Given the description of an element on the screen output the (x, y) to click on. 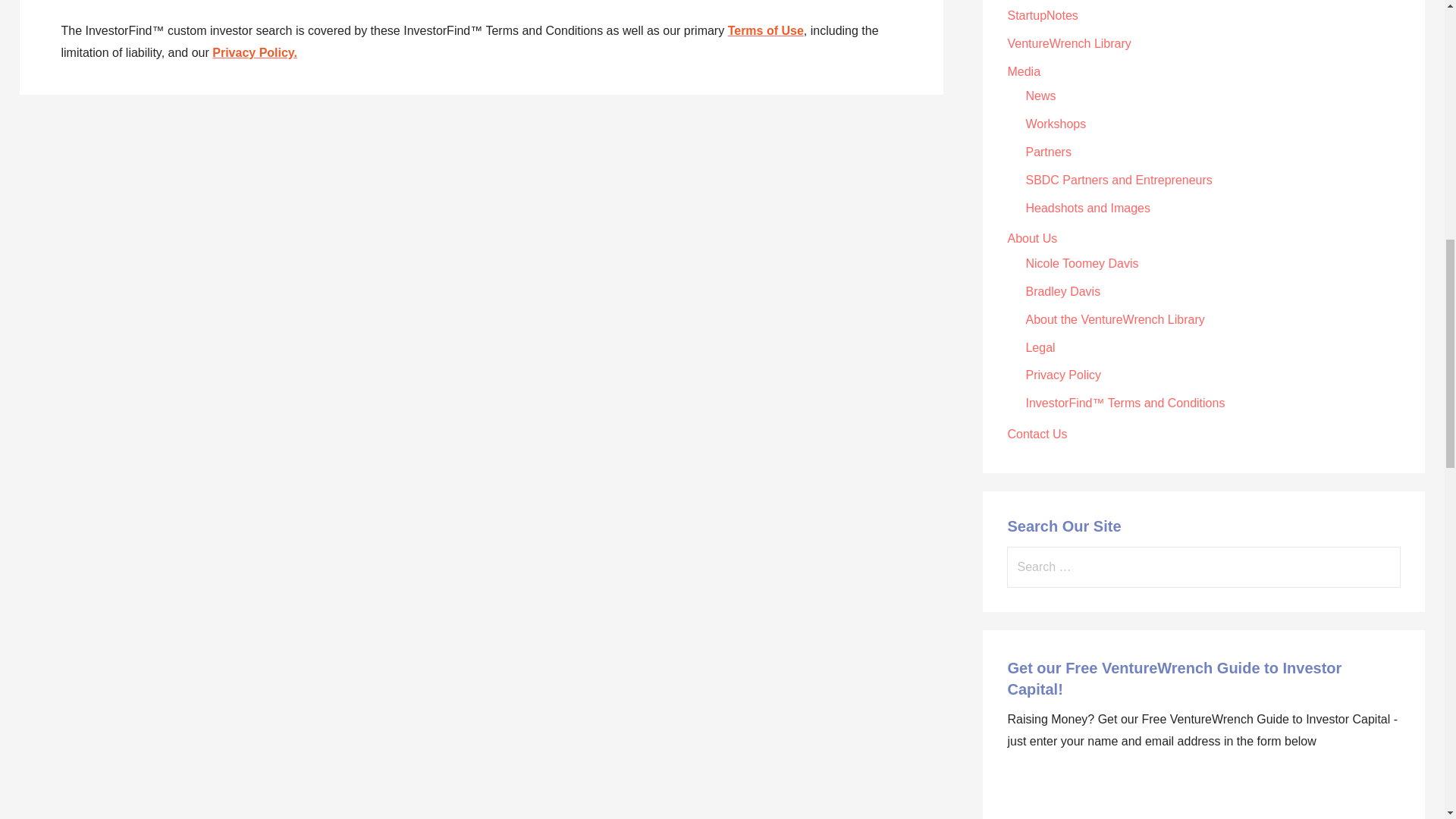
Terms of Use (765, 30)
Privacy Policy. (254, 51)
StartupNotes (1042, 15)
